Given the description of an element on the screen output the (x, y) to click on. 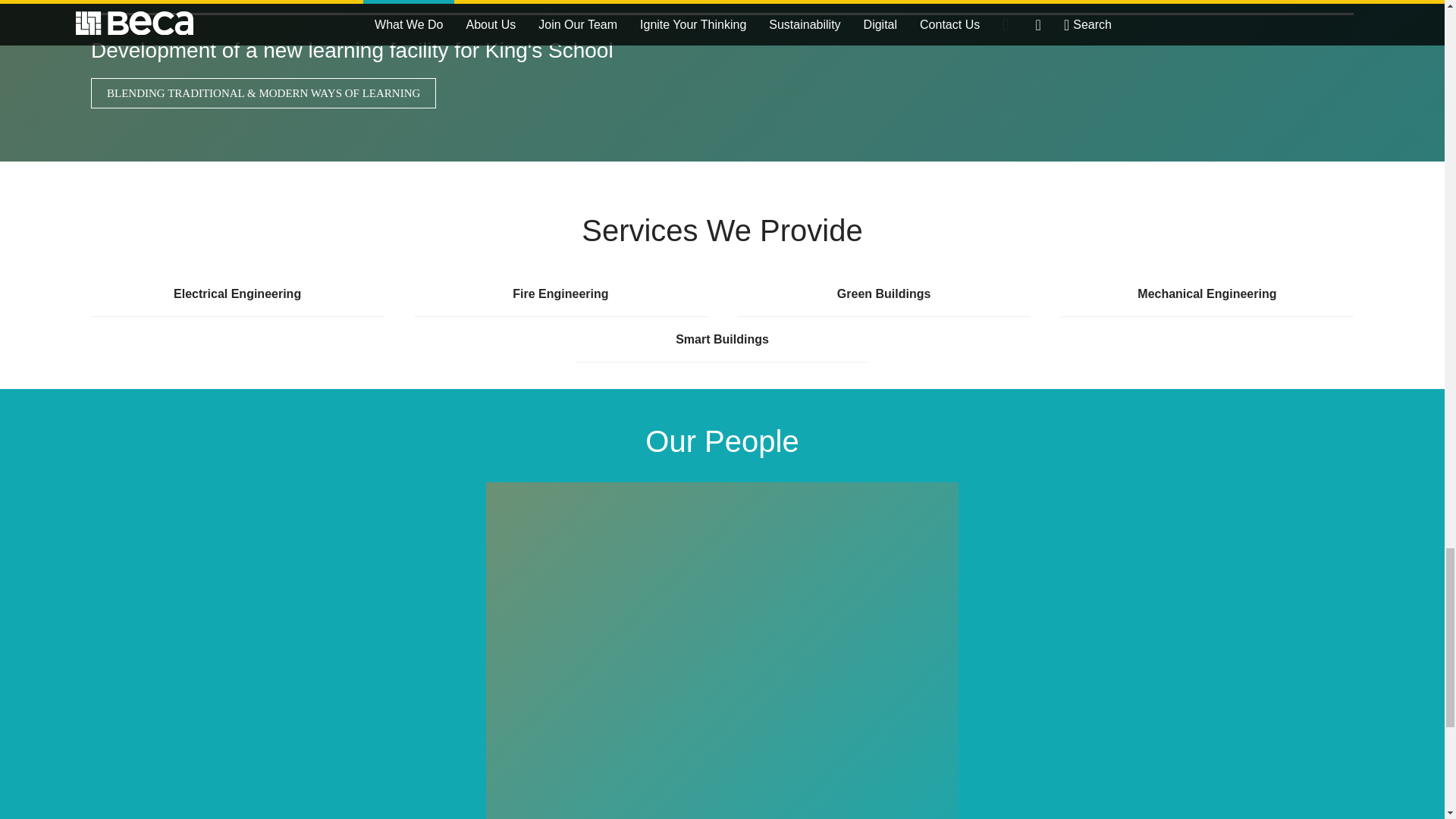
Electrical Engineering (237, 293)
Smart Buildings (721, 339)
Green Buildings (882, 293)
Mechanical Engineering (1207, 293)
Fire Engineering (559, 293)
